Given the description of an element on the screen output the (x, y) to click on. 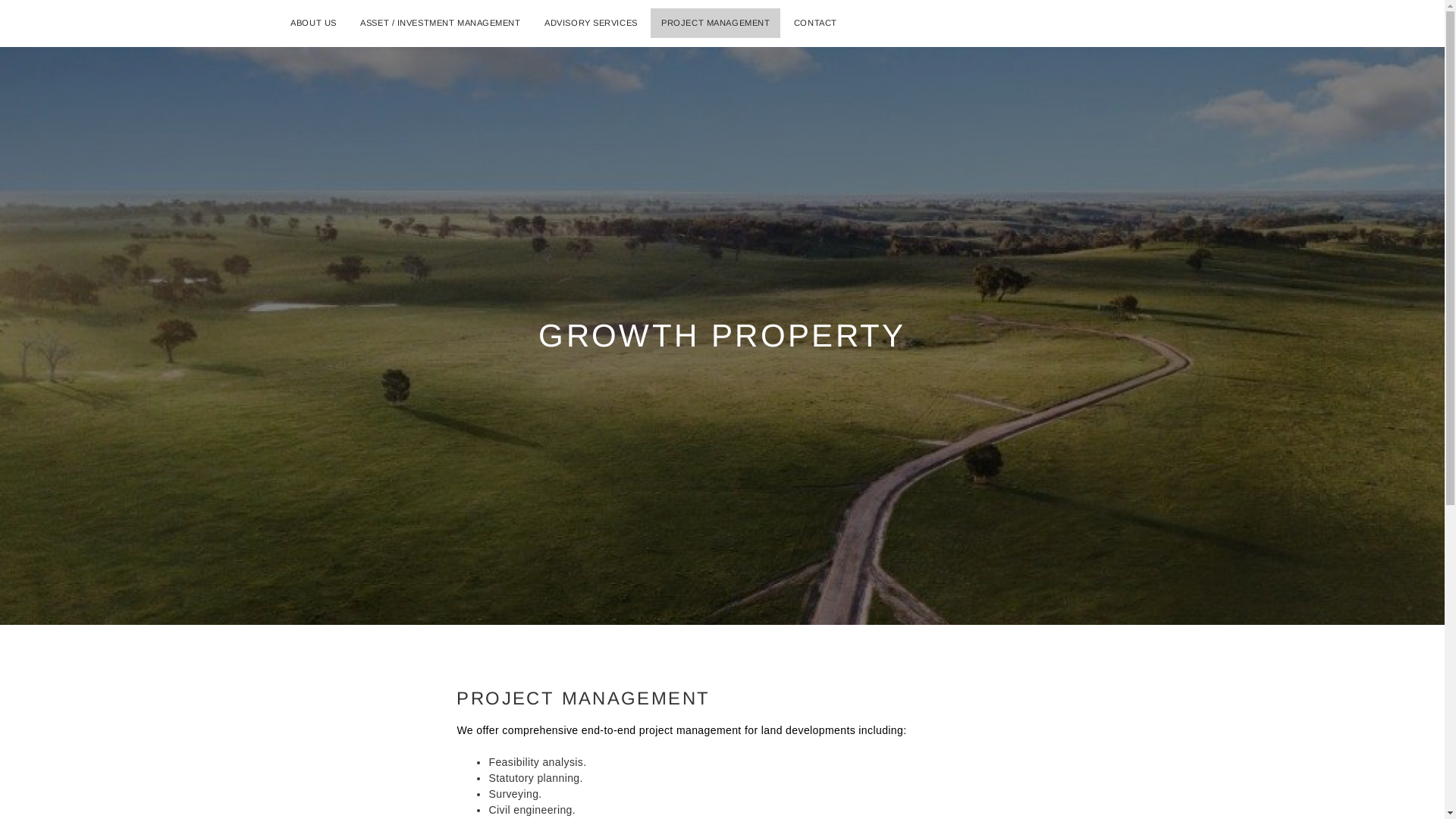
ASSET / INVESTMENT MANAGEMENT Element type: text (439, 22)
ADVISORY SERVICES Element type: text (590, 22)
GROWTH PROPERTY Element type: text (721, 335)
CONTACT Element type: text (815, 22)
ABOUT US Element type: text (312, 22)
PROJECT MANAGEMENT Element type: text (715, 22)
